Given the description of an element on the screen output the (x, y) to click on. 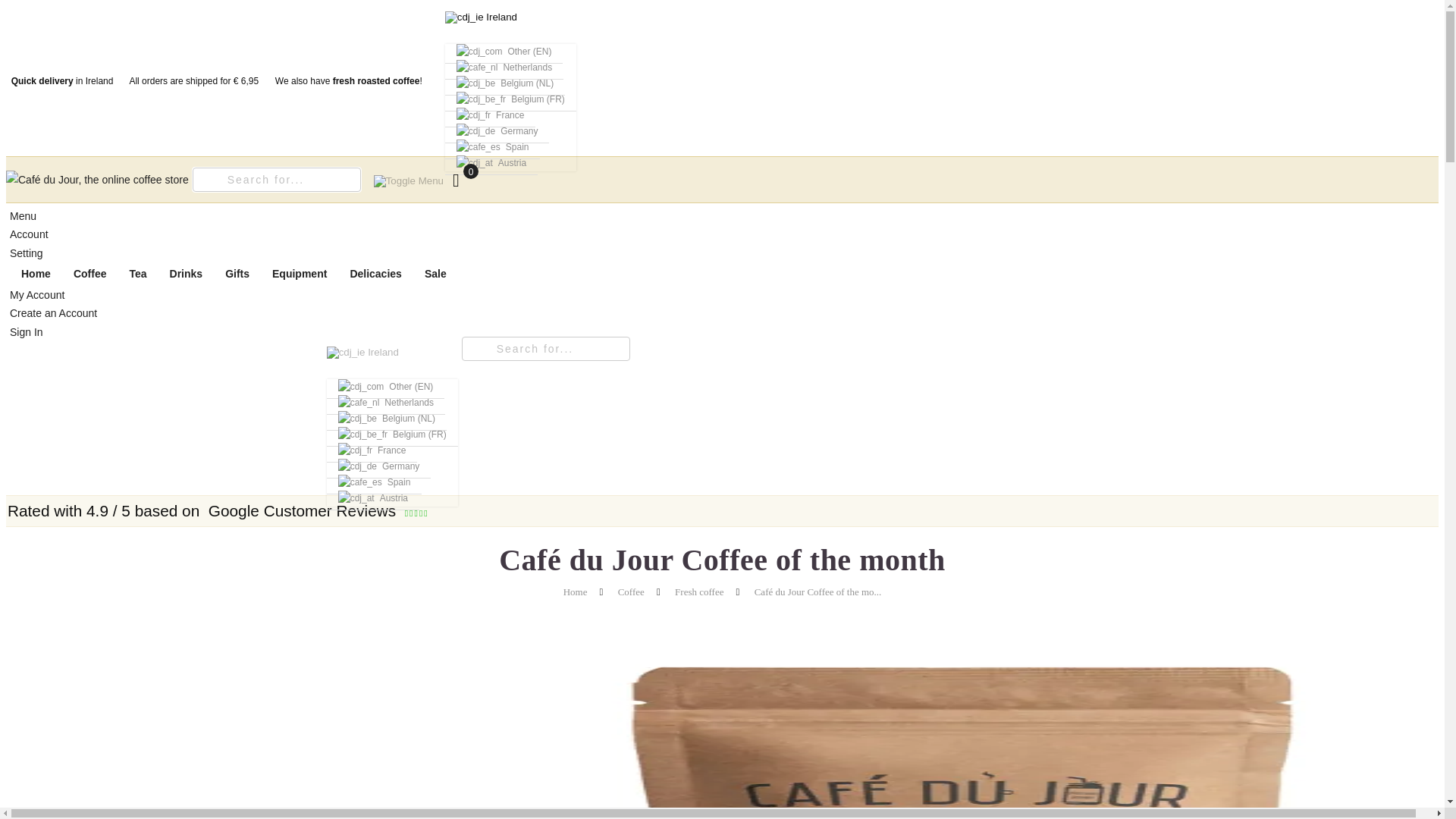
Coffee (631, 591)
Fresh coffee (699, 591)
Home (36, 273)
Go to Home Page (575, 591)
Setting (26, 253)
France (490, 115)
 Ireland (481, 16)
Germany (497, 131)
Austria (491, 163)
  Quick delivery in Ireland (59, 81)
Coffee (89, 273)
Spain (492, 146)
Menu (23, 215)
Account (29, 234)
Netherlands (504, 67)
